Given the description of an element on the screen output the (x, y) to click on. 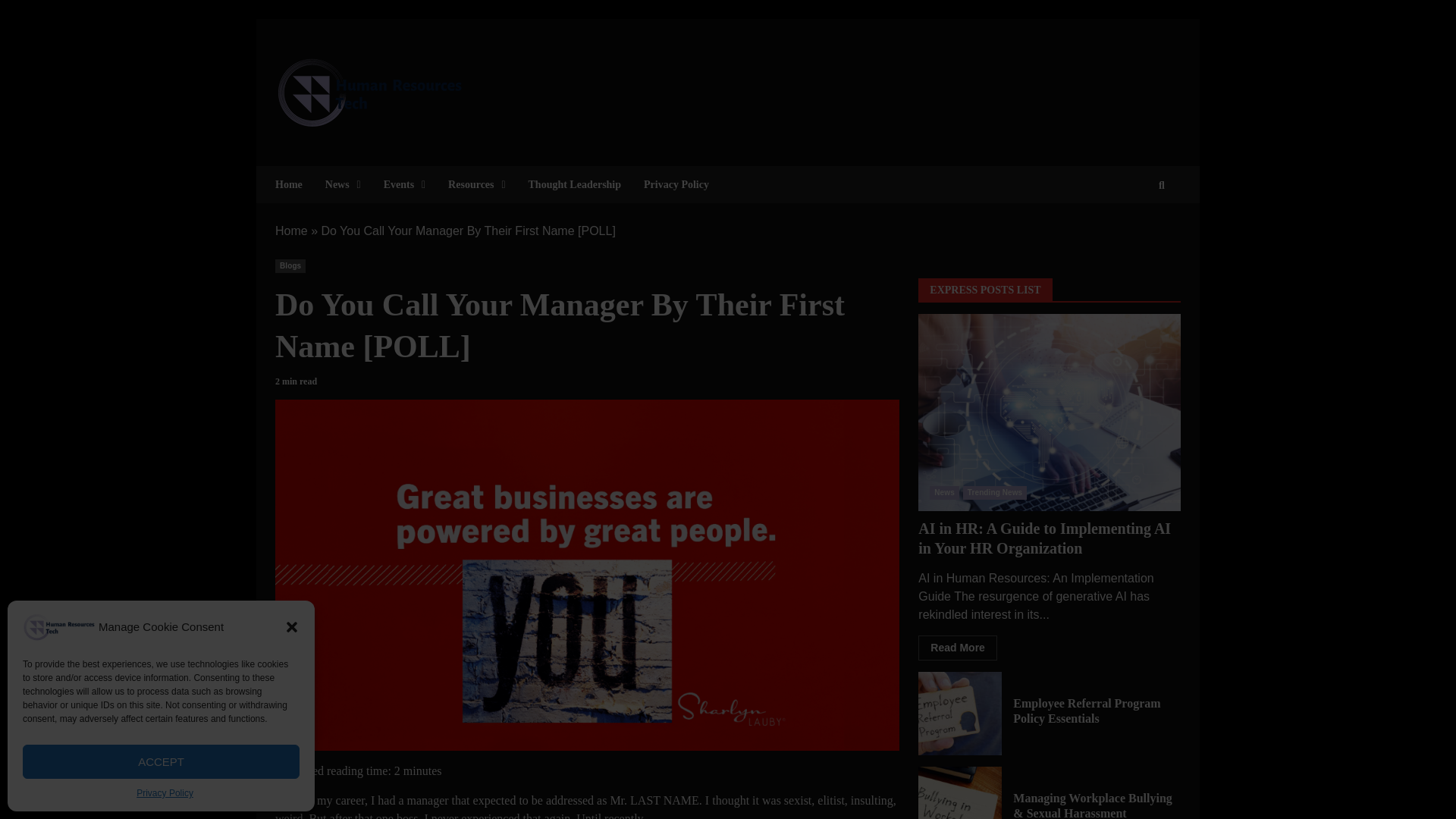
Home (291, 230)
News (343, 184)
Search (1133, 230)
Privacy Policy (670, 184)
Resources (476, 184)
Privacy Policy (164, 793)
Home (294, 184)
Events (404, 184)
Blogs (290, 265)
ACCEPT (161, 761)
Thought Leadership (574, 184)
